Given the description of an element on the screen output the (x, y) to click on. 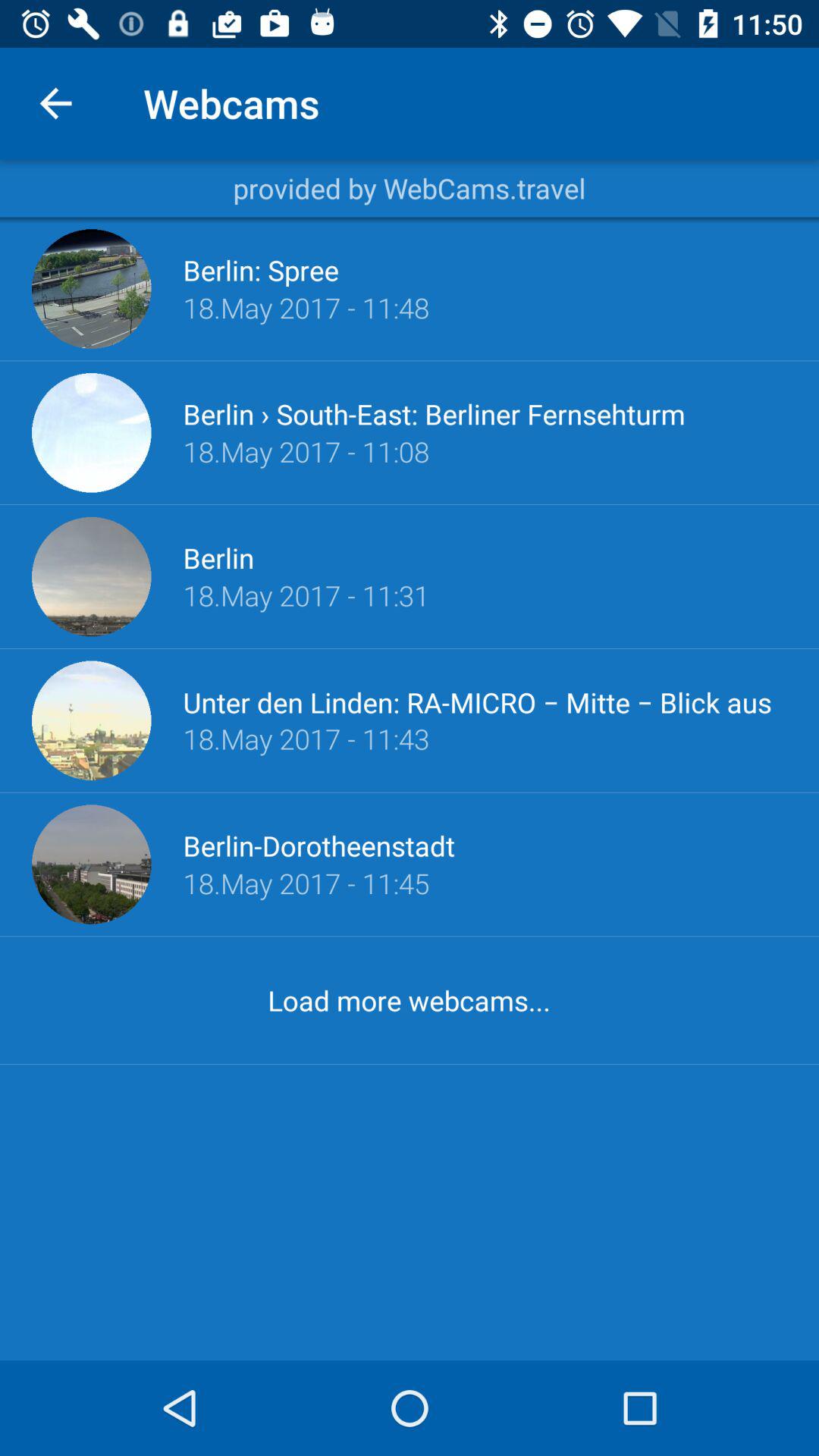
open the icon below the 18 may 2017 (408, 1000)
